Given the description of an element on the screen output the (x, y) to click on. 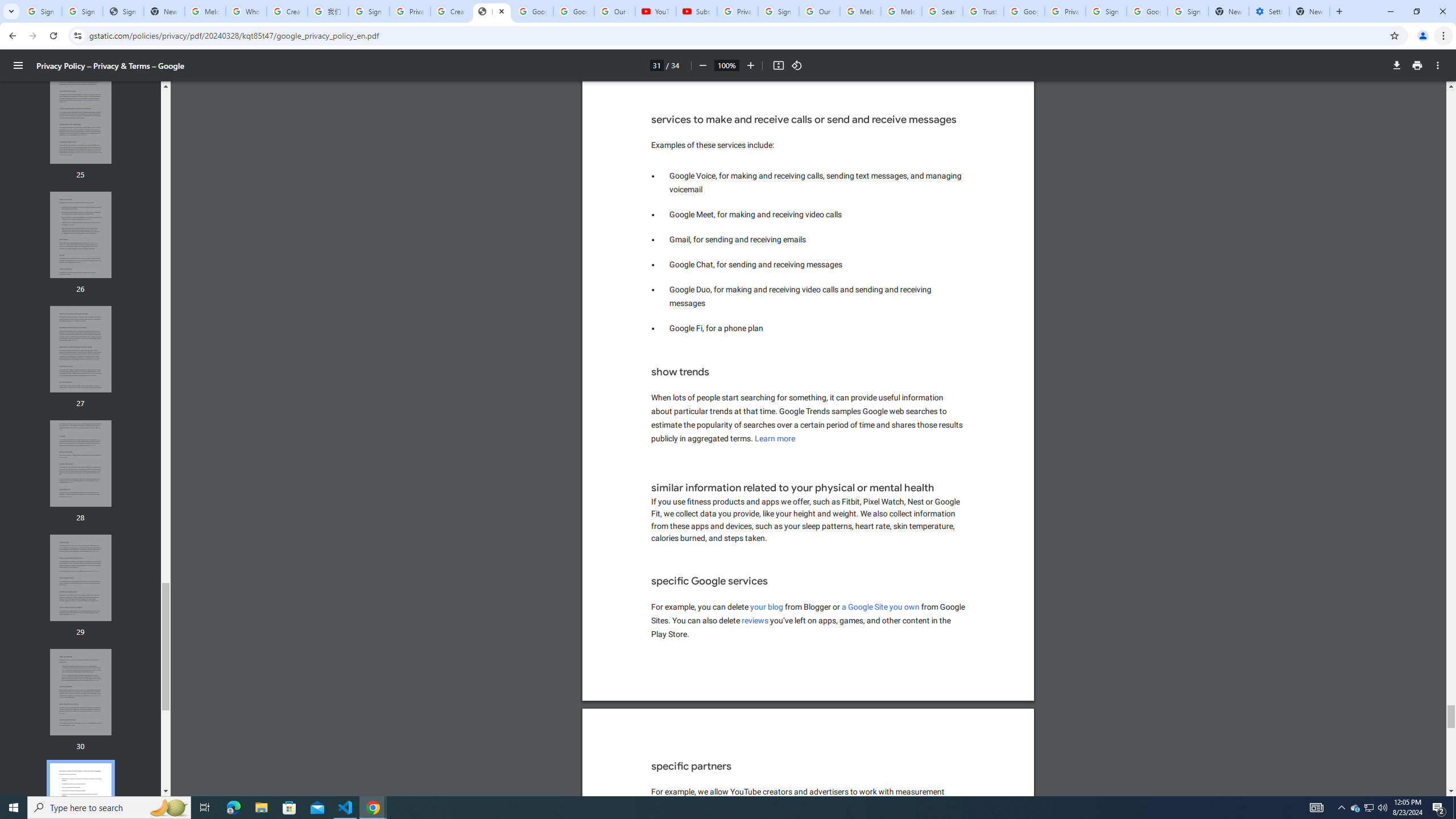
Thumbnail for page 30 (80, 692)
Thumbnail for page 26 (80, 234)
Create your Google Account (450, 11)
YouTube (655, 11)
Rotate counterclockwise (796, 65)
